Given the description of an element on the screen output the (x, y) to click on. 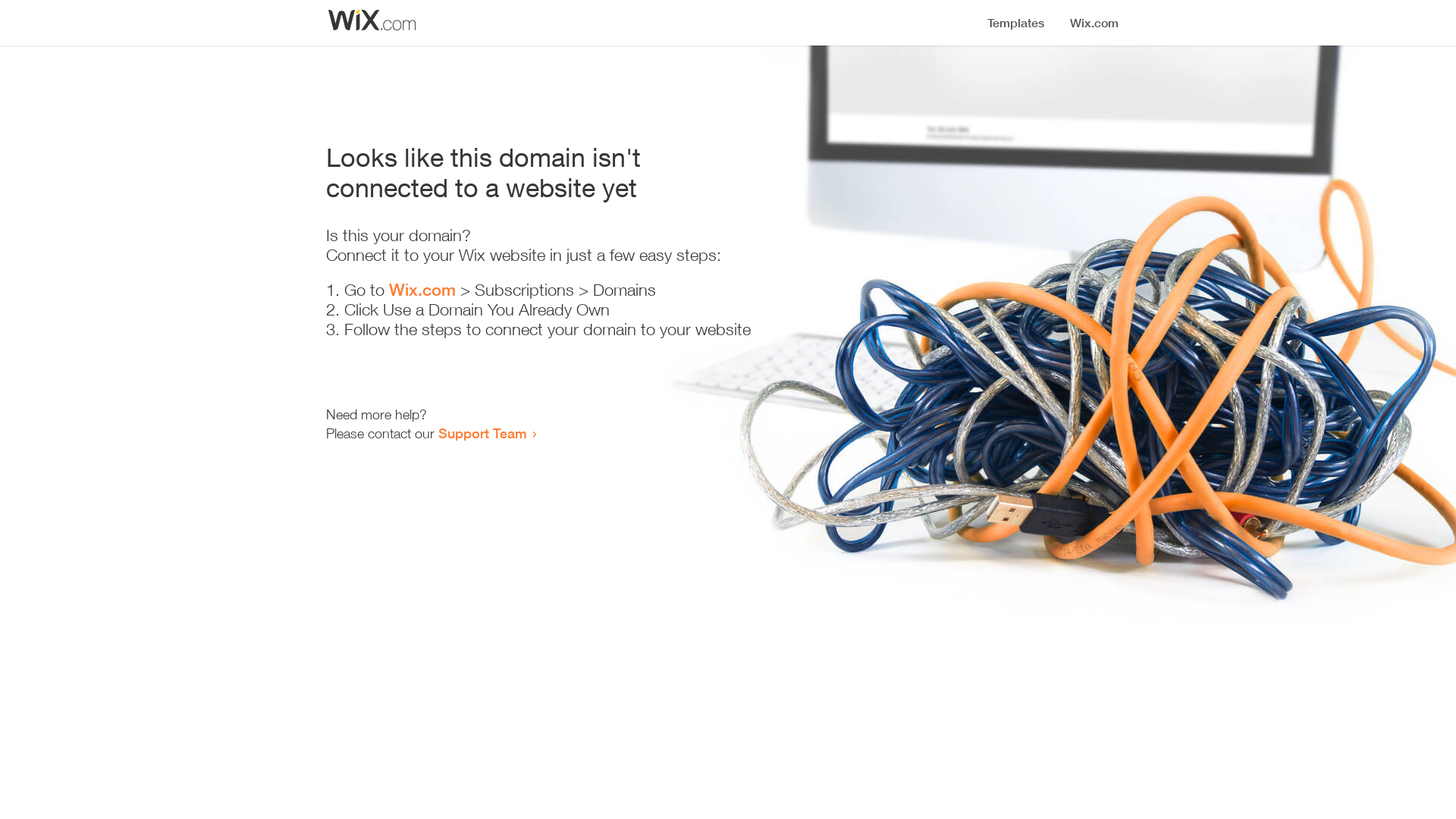
Wix.com Element type: text (422, 289)
Support Team Element type: text (482, 432)
